Given the description of an element on the screen output the (x, y) to click on. 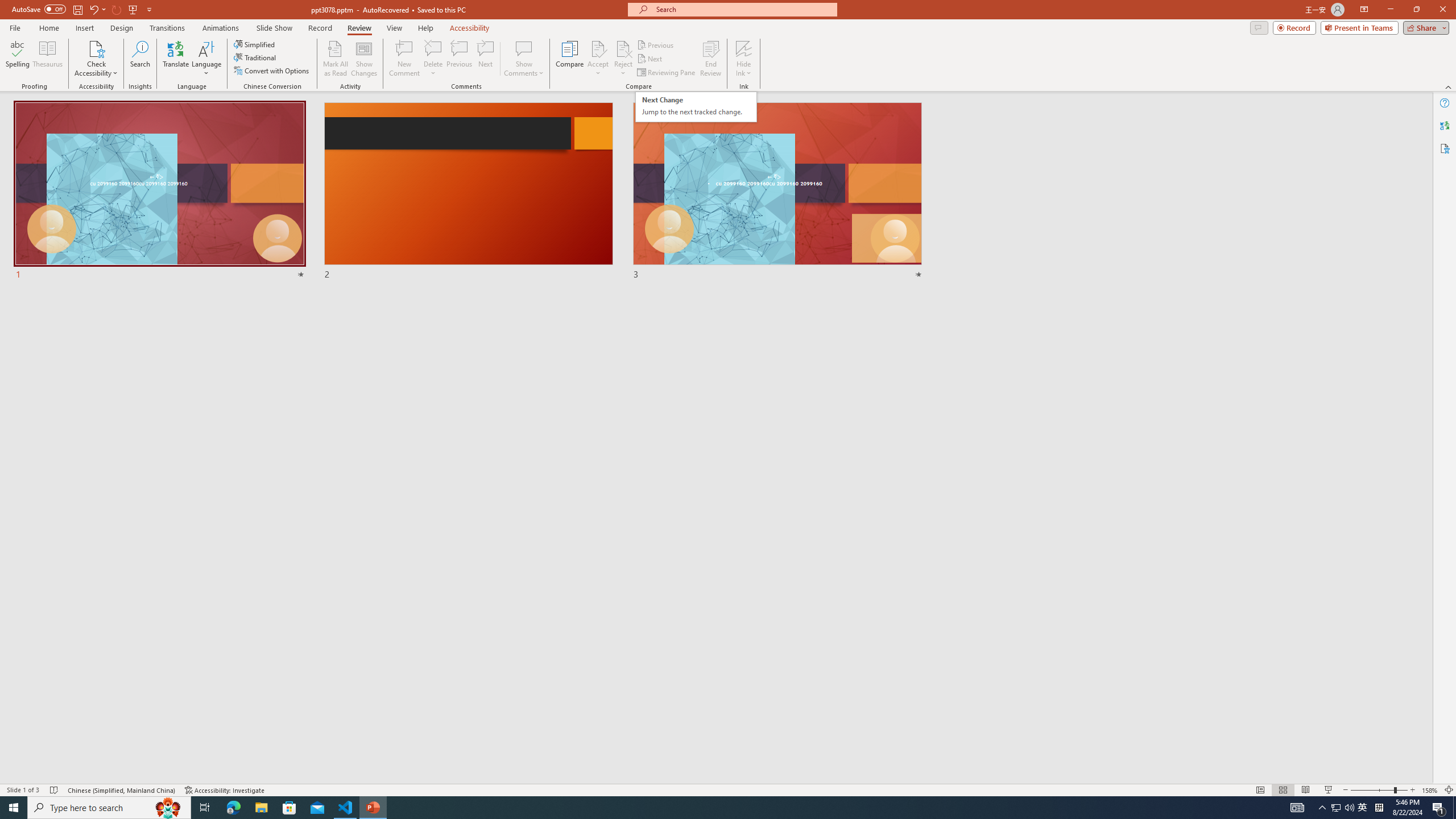
Translate (175, 58)
Next (649, 58)
Accept Change (598, 48)
Mark All as Read (335, 58)
Reject Change (622, 48)
